Given the description of an element on the screen output the (x, y) to click on. 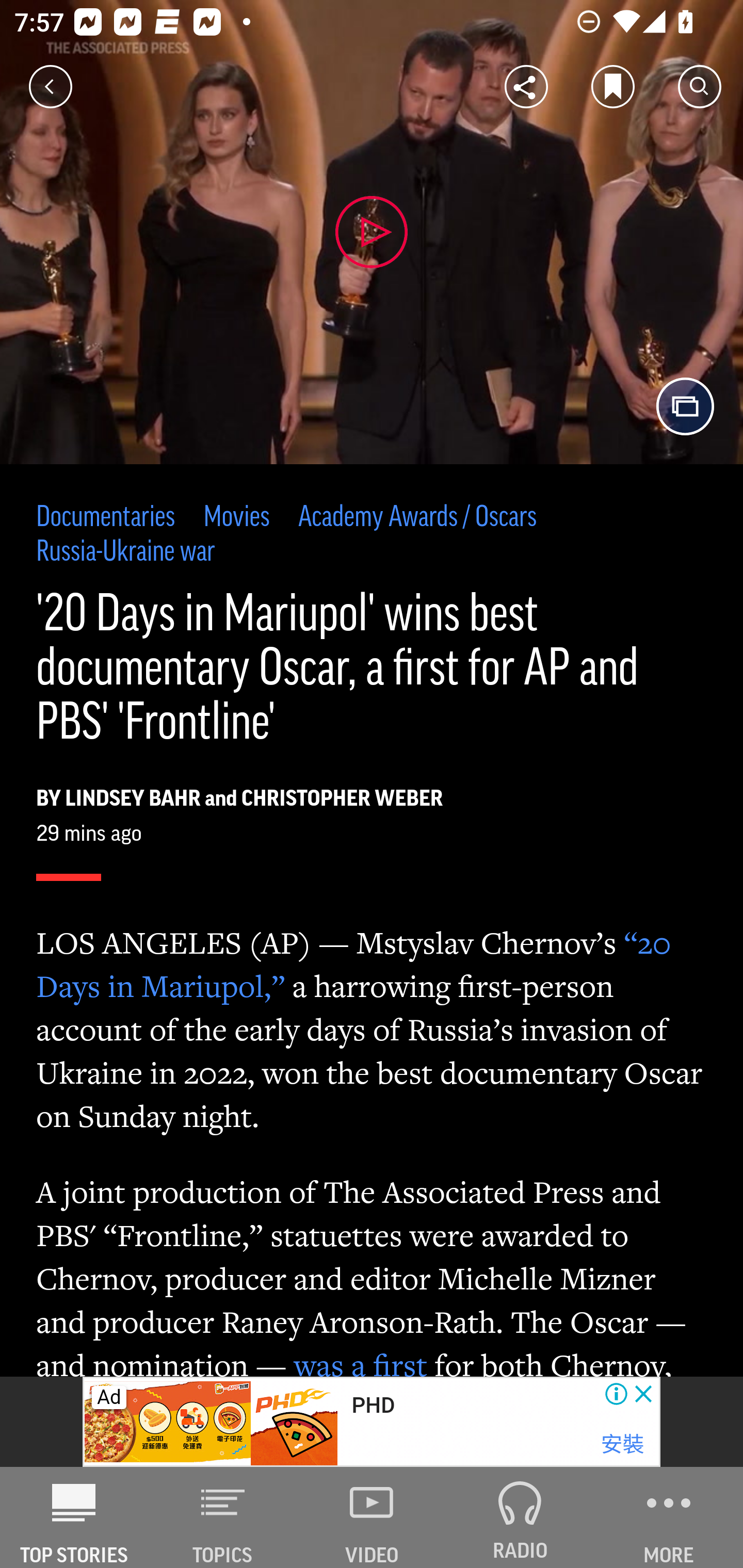
Documentaries (106, 518)
Movies (236, 518)
Academy Awards / Oscars (417, 518)
Russia-Ukraine war (126, 552)
“20 Days in Mariupol,” (353, 963)
B30001746 (168, 1421)
PHD (372, 1405)
安裝 (621, 1444)
AP News TOP STORIES (74, 1517)
TOPICS (222, 1517)
VIDEO (371, 1517)
RADIO (519, 1517)
MORE (668, 1517)
